Given the description of an element on the screen output the (x, y) to click on. 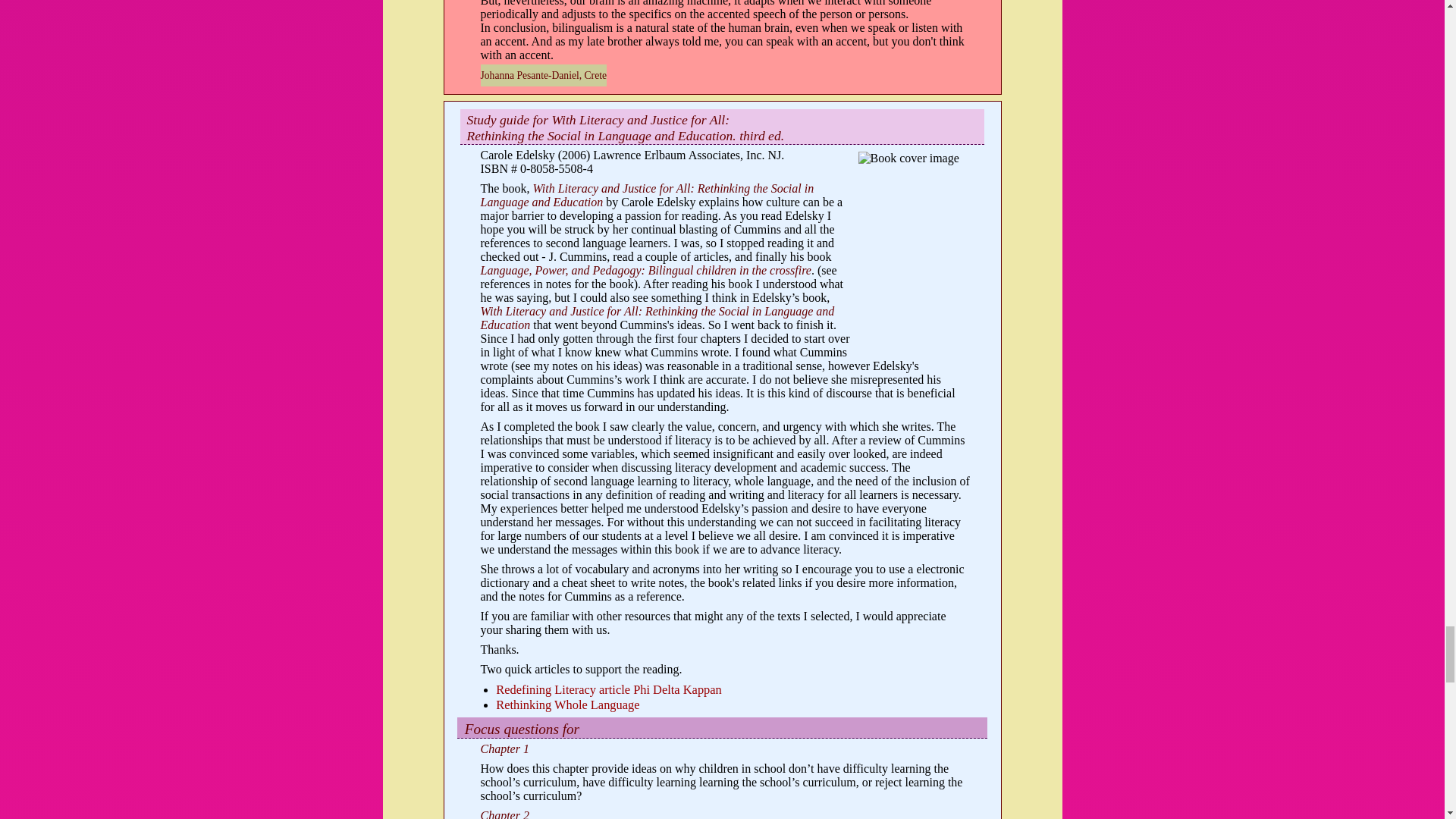
Redefining Literacy article Phi Delta Kappan (608, 689)
Rethinking Whole Language (567, 704)
